Given the description of an element on the screen output the (x, y) to click on. 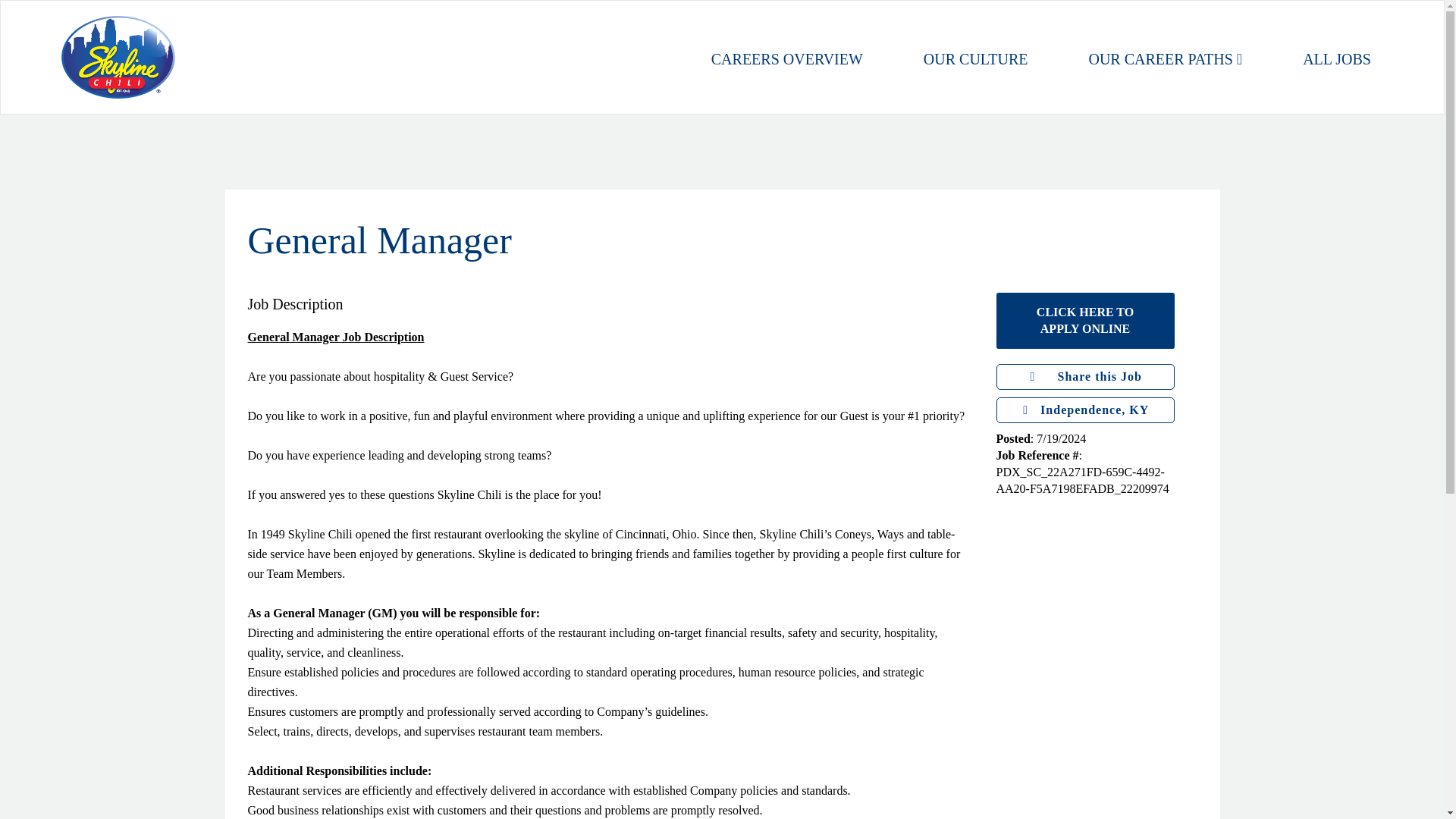
ALL JOBS (1084, 320)
CAREERS OVERVIEW (1337, 58)
Share this Job (787, 58)
OUR CULTURE (1084, 376)
Independence, KY (975, 58)
